Given the description of an element on the screen output the (x, y) to click on. 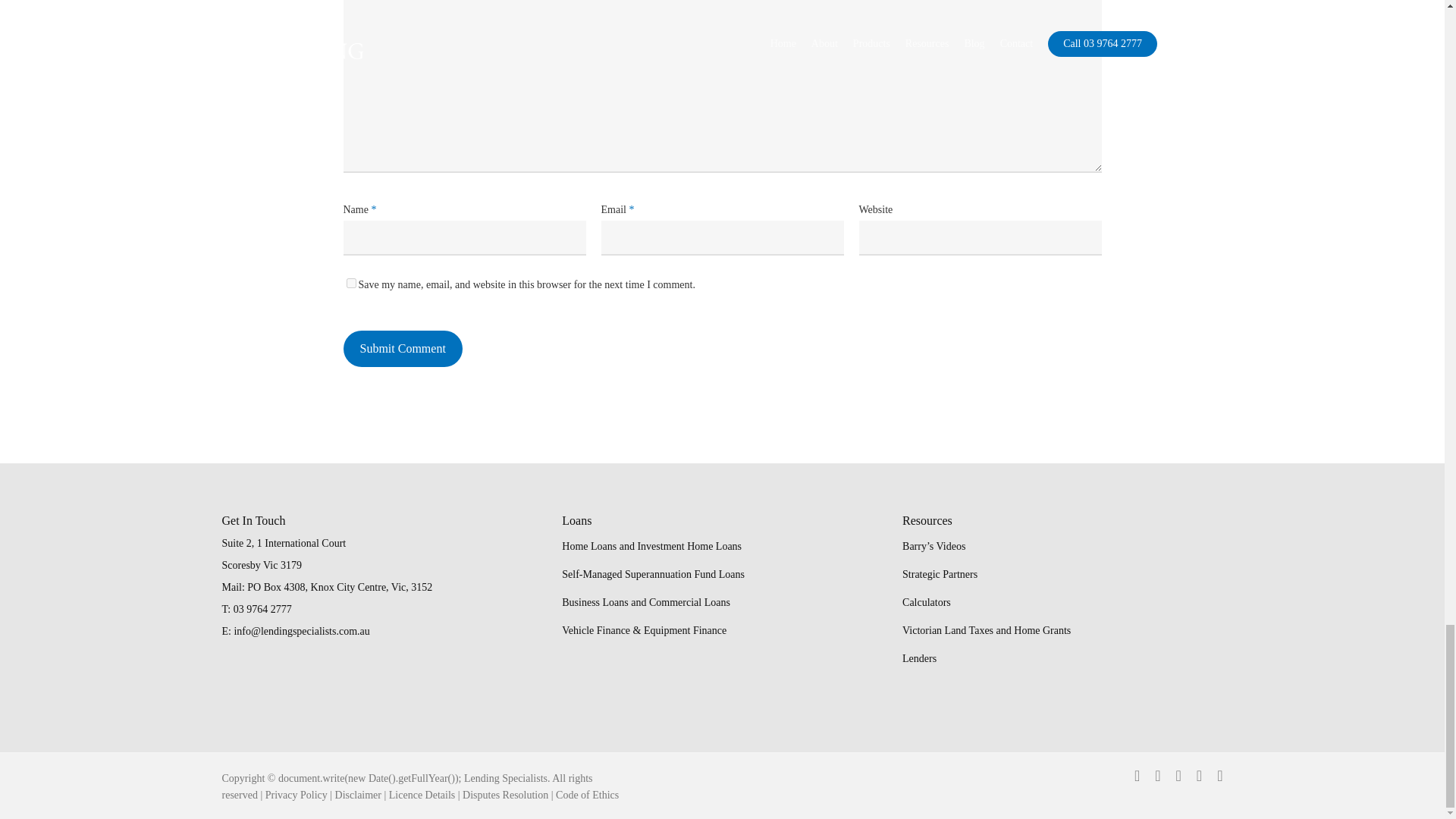
yes (350, 283)
Submit Comment (401, 348)
